Given the description of an element on the screen output the (x, y) to click on. 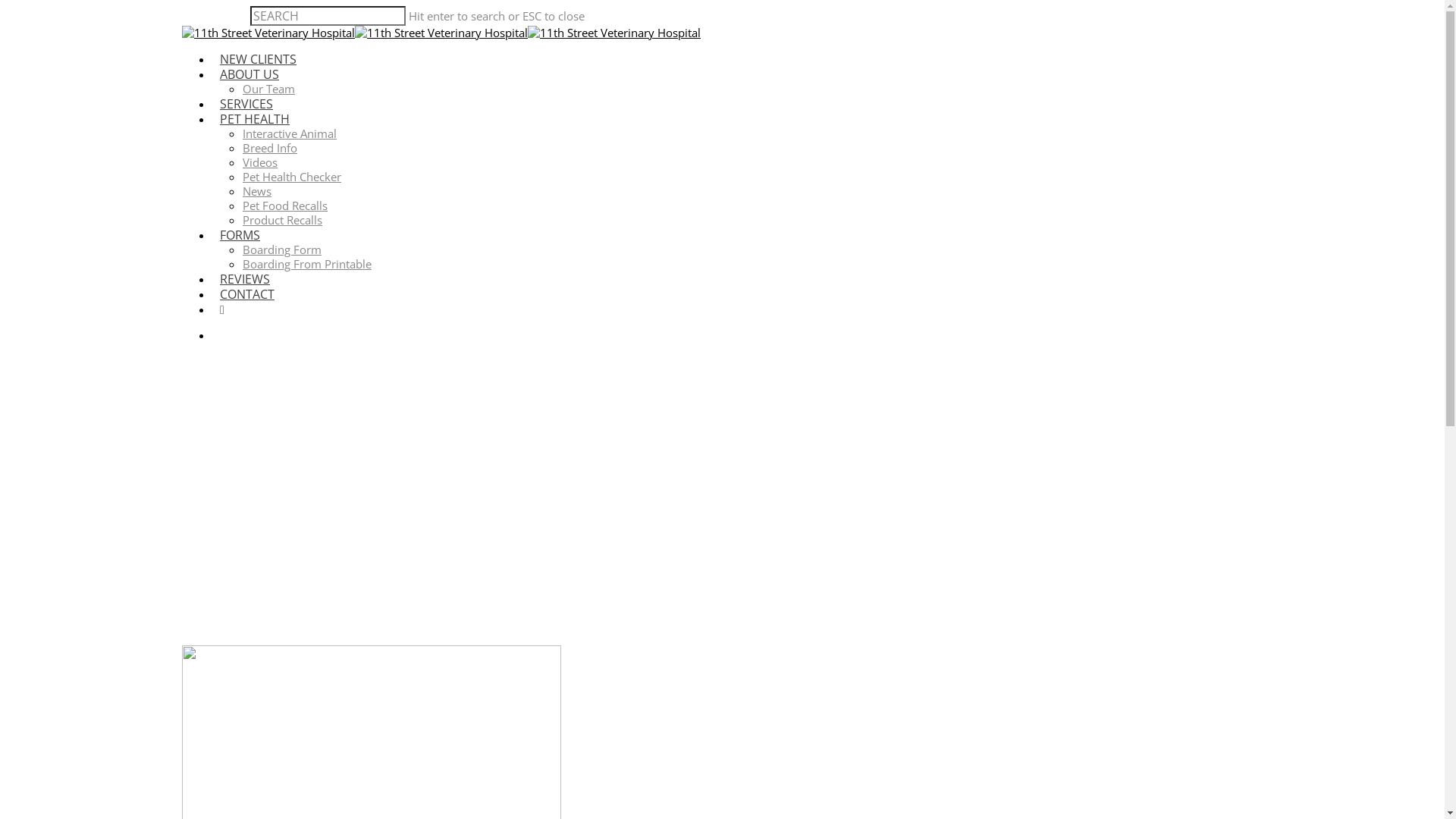
NEW CLIENTS Element type: text (257, 58)
News Element type: text (256, 190)
ABOUT US Element type: text (249, 73)
CONTACT Element type: text (246, 293)
Our Team Element type: text (268, 88)
Interactive Animal Element type: text (289, 133)
Pet Health Checker Element type: text (291, 176)
Breed Info Element type: text (269, 147)
Videos Element type: text (259, 161)
Boarding From Printable Element type: text (306, 263)
FORMS Element type: text (239, 234)
PET HEALTH Element type: text (254, 118)
Pet Food Recalls Element type: text (284, 205)
REVIEWS Element type: text (244, 278)
Product Recalls Element type: text (282, 219)
Boarding Form Element type: text (281, 249)
SERVICES Element type: text (246, 103)
